Given the description of an element on the screen output the (x, y) to click on. 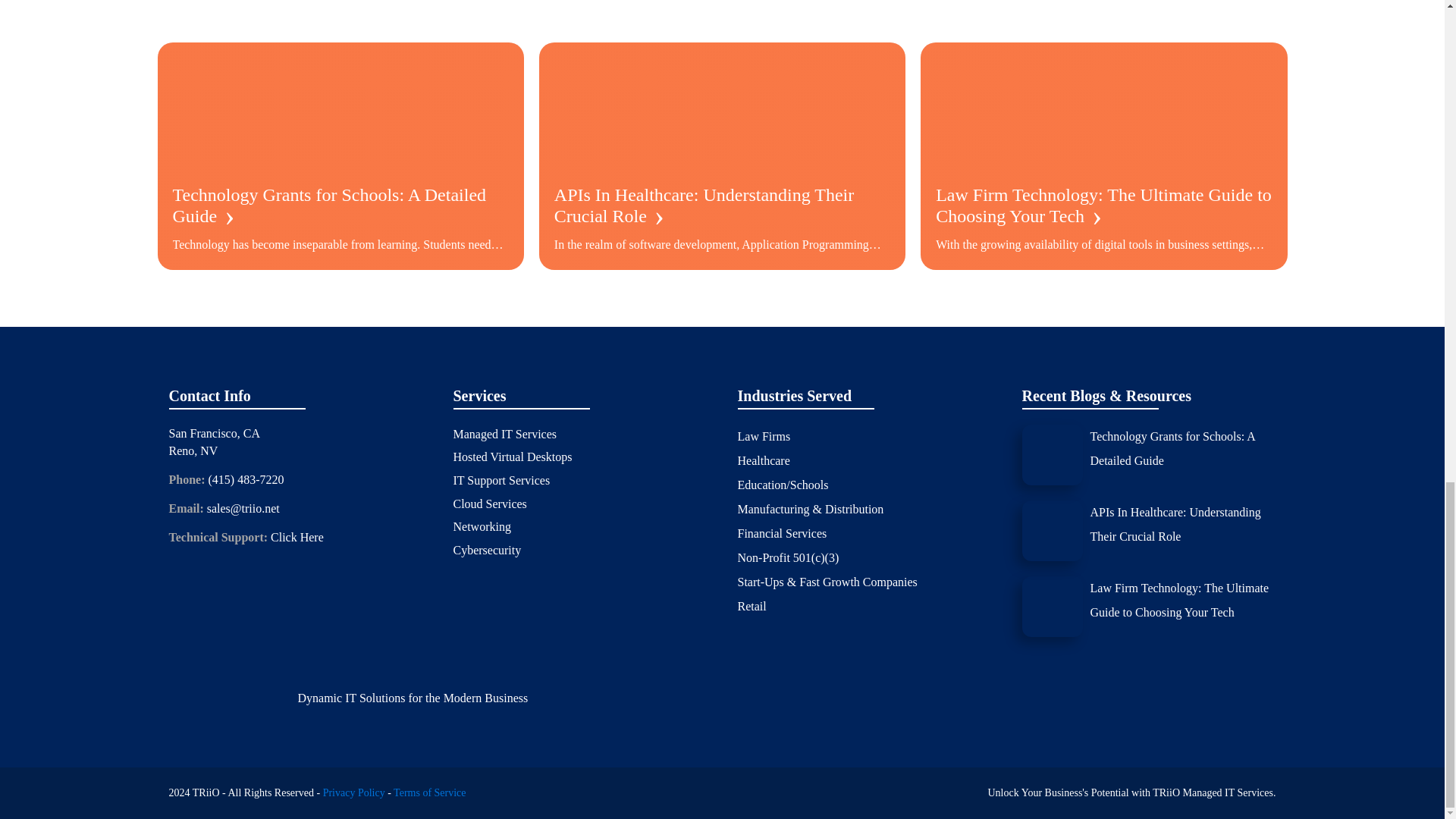
Cloud Services (489, 504)
IT Support Services (501, 480)
Cybersecurity (486, 550)
APIs In Healthcare: Understanding Their Crucial Role (1183, 524)
Law Firms (763, 436)
Networking (481, 526)
Technology Grants for Schools: A Detailed Guide (1183, 449)
Managed IT Services (504, 434)
Technical Support: Click Here (245, 537)
Hosted Virtual Desktops (512, 456)
